Given the description of an element on the screen output the (x, y) to click on. 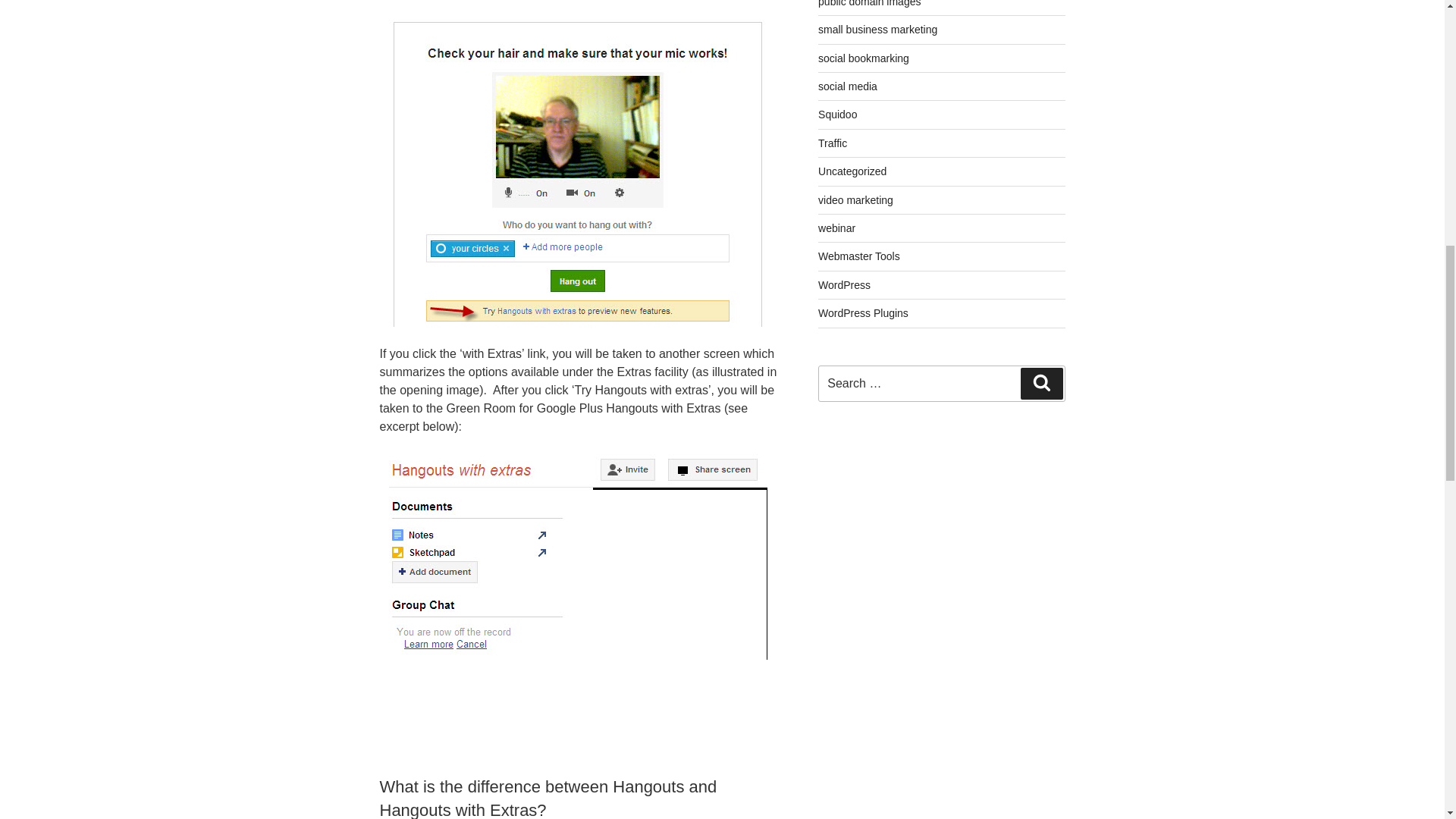
public domain images (869, 3)
small business marketing (877, 29)
social bookmarking (863, 58)
Google Plus Hangouts with Extras - options (577, 557)
Google Plus Hangouts - try hangouts with extras (578, 172)
